Given the description of an element on the screen output the (x, y) to click on. 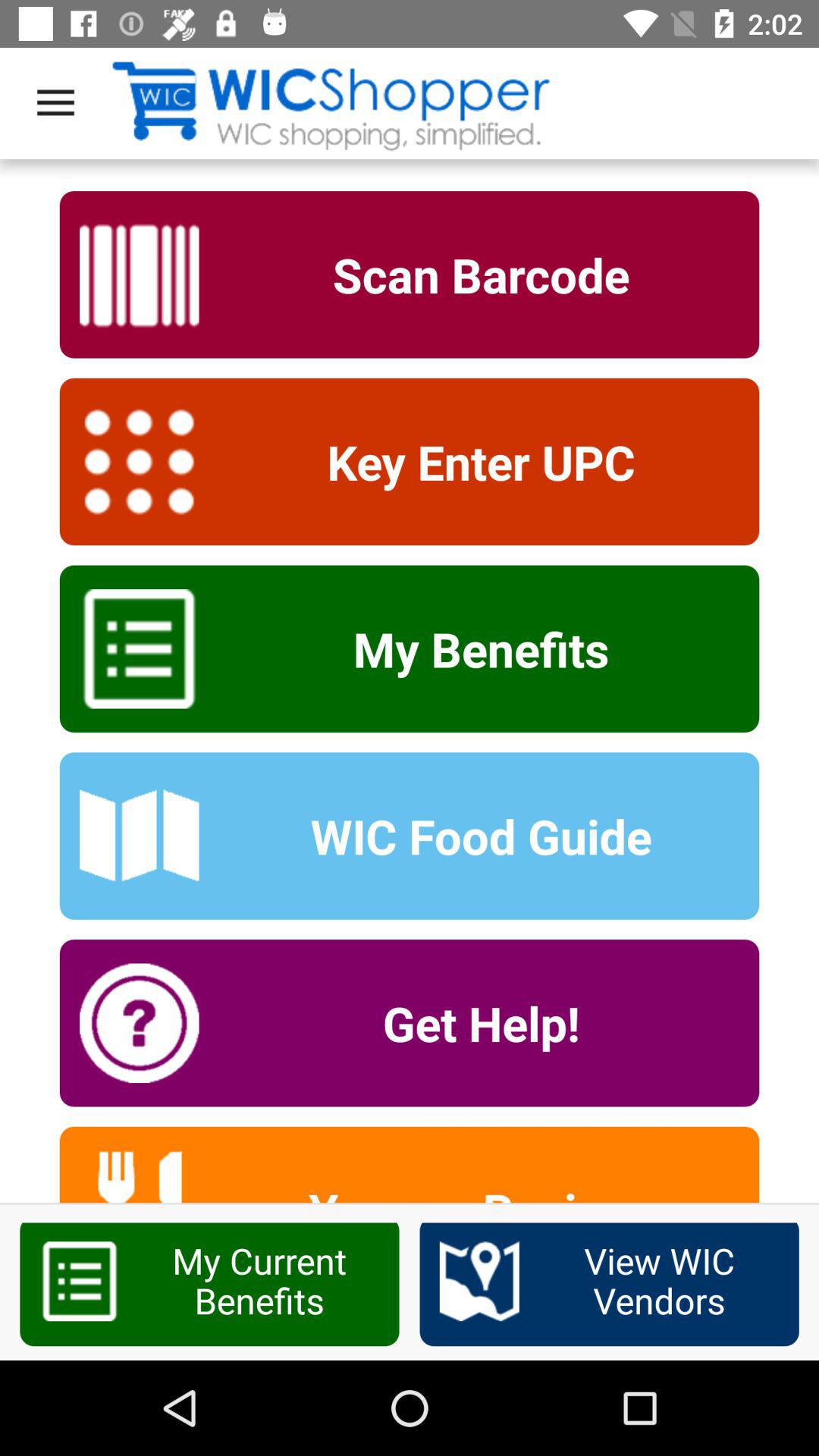
swipe to the wic food guide item (471, 835)
